Given the description of an element on the screen output the (x, y) to click on. 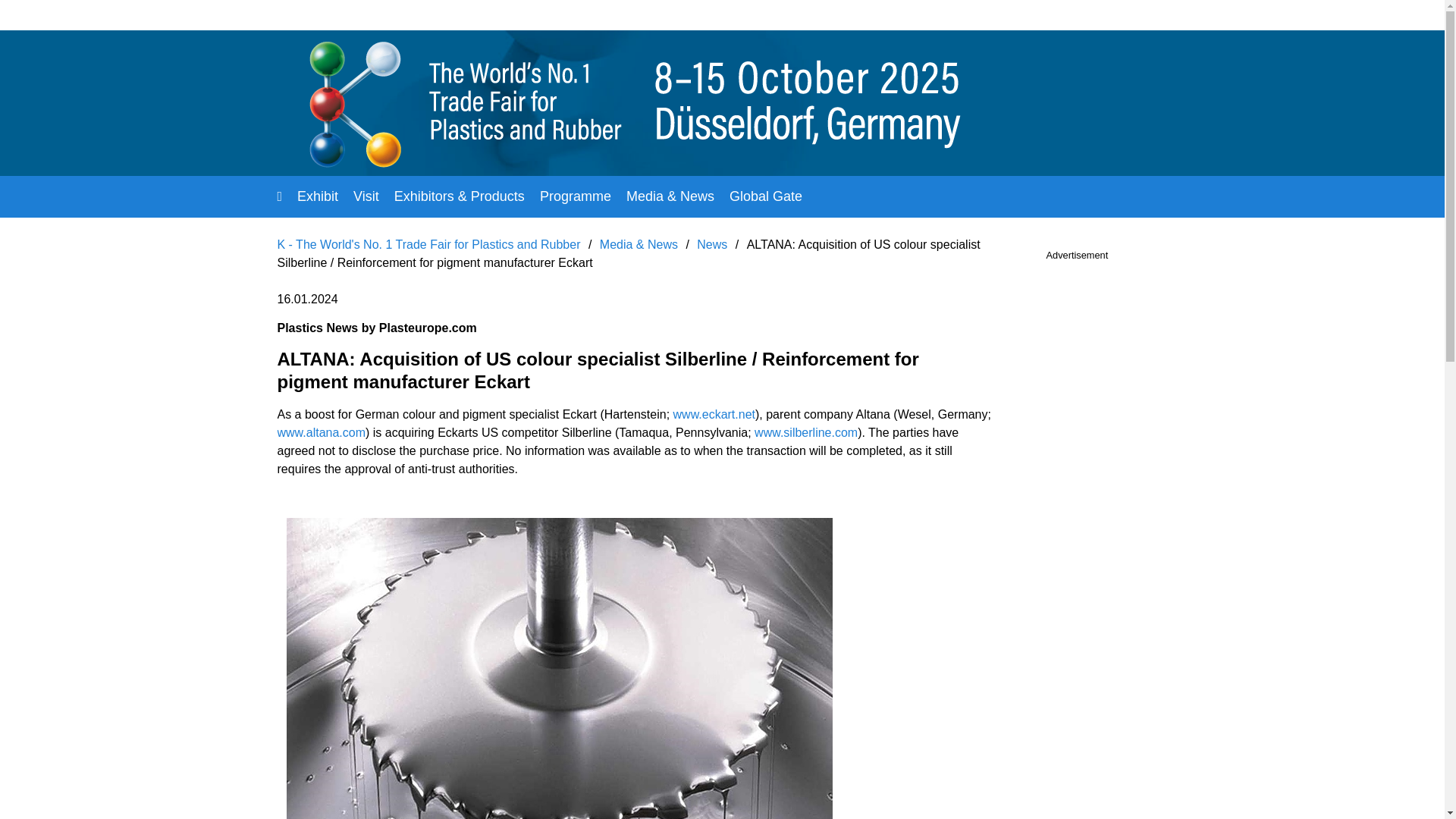
Visit (365, 196)
Home (280, 196)
Home (280, 196)
Exhibit (317, 196)
Exhibit (317, 196)
